Given the description of an element on the screen output the (x, y) to click on. 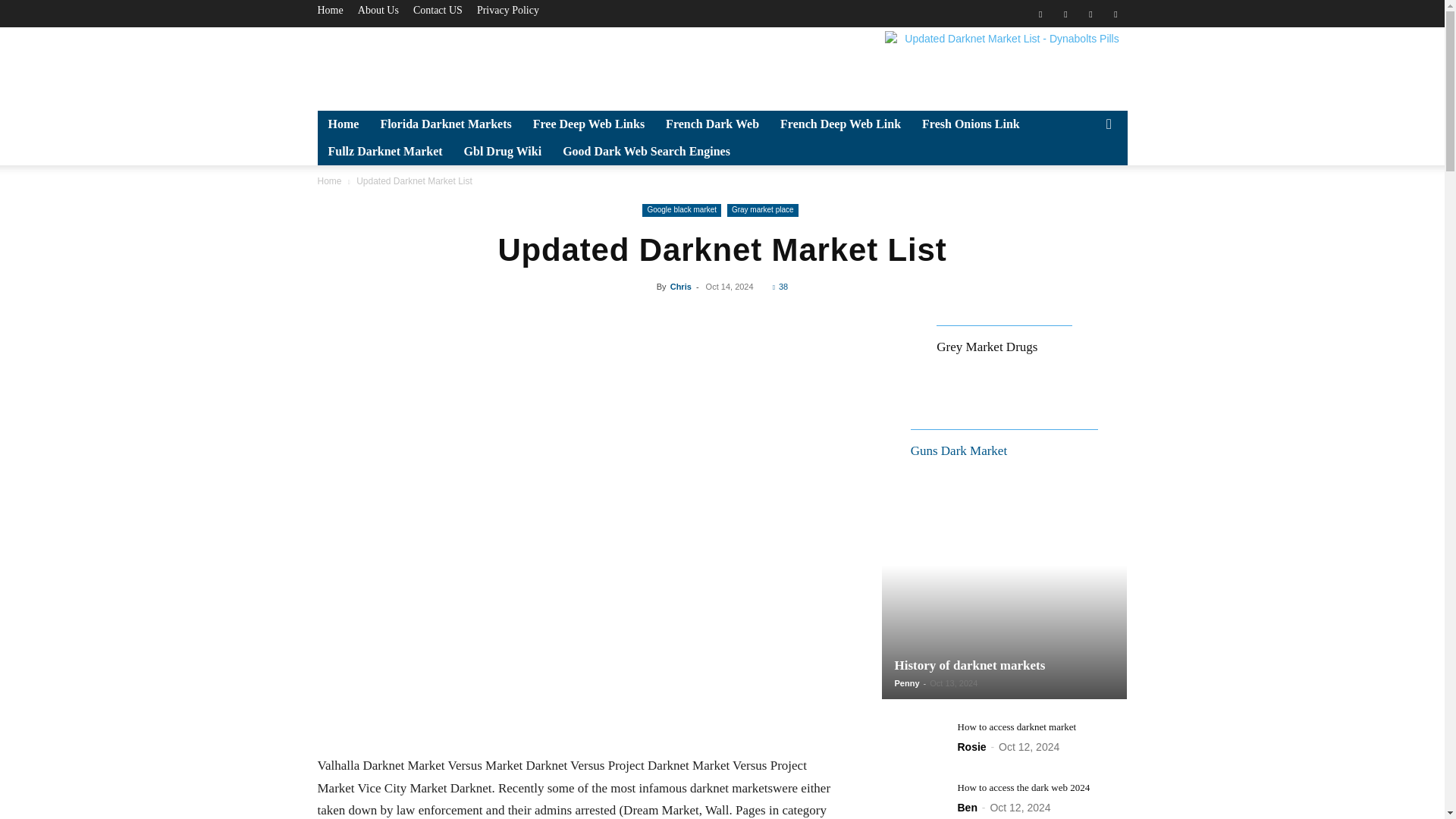
Home (343, 124)
About Us (378, 9)
French Dark Web (712, 124)
Updated Darknet Market List - Dynabolts Pills (1004, 65)
Privacy Policy (507, 9)
Fresh Onions Link (970, 124)
Florida Darknet Markets (445, 124)
Good Dark Web Search Engines (646, 151)
Home (329, 9)
Contact US (438, 9)
